Given the description of an element on the screen output the (x, y) to click on. 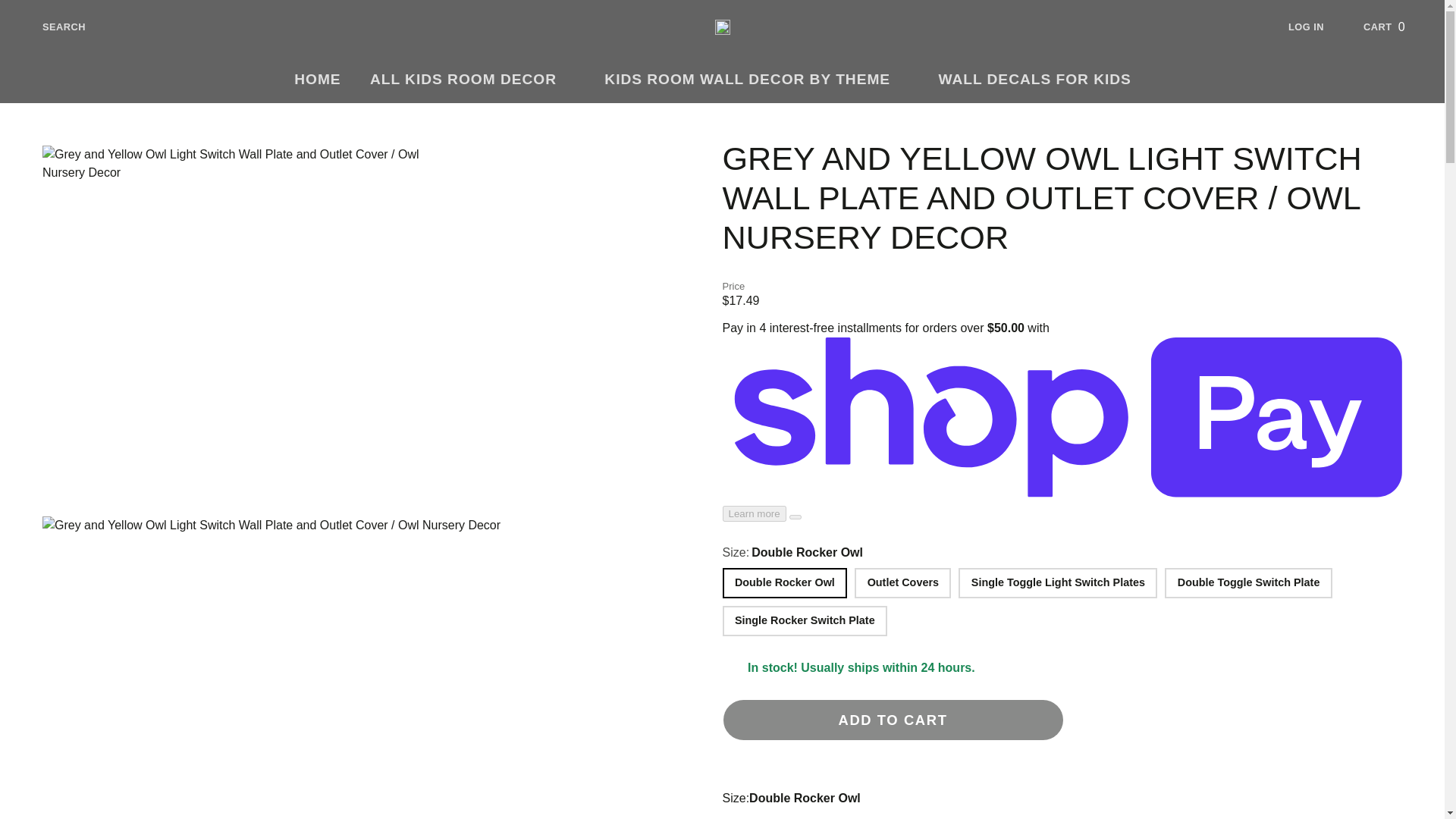
KIDS ROOM WALL DECOR BY THEME (756, 79)
HOME (317, 79)
SEARCH (51, 27)
LOG IN (1318, 27)
ALL KIDS ROOM DECOR (472, 79)
